Given the description of an element on the screen output the (x, y) to click on. 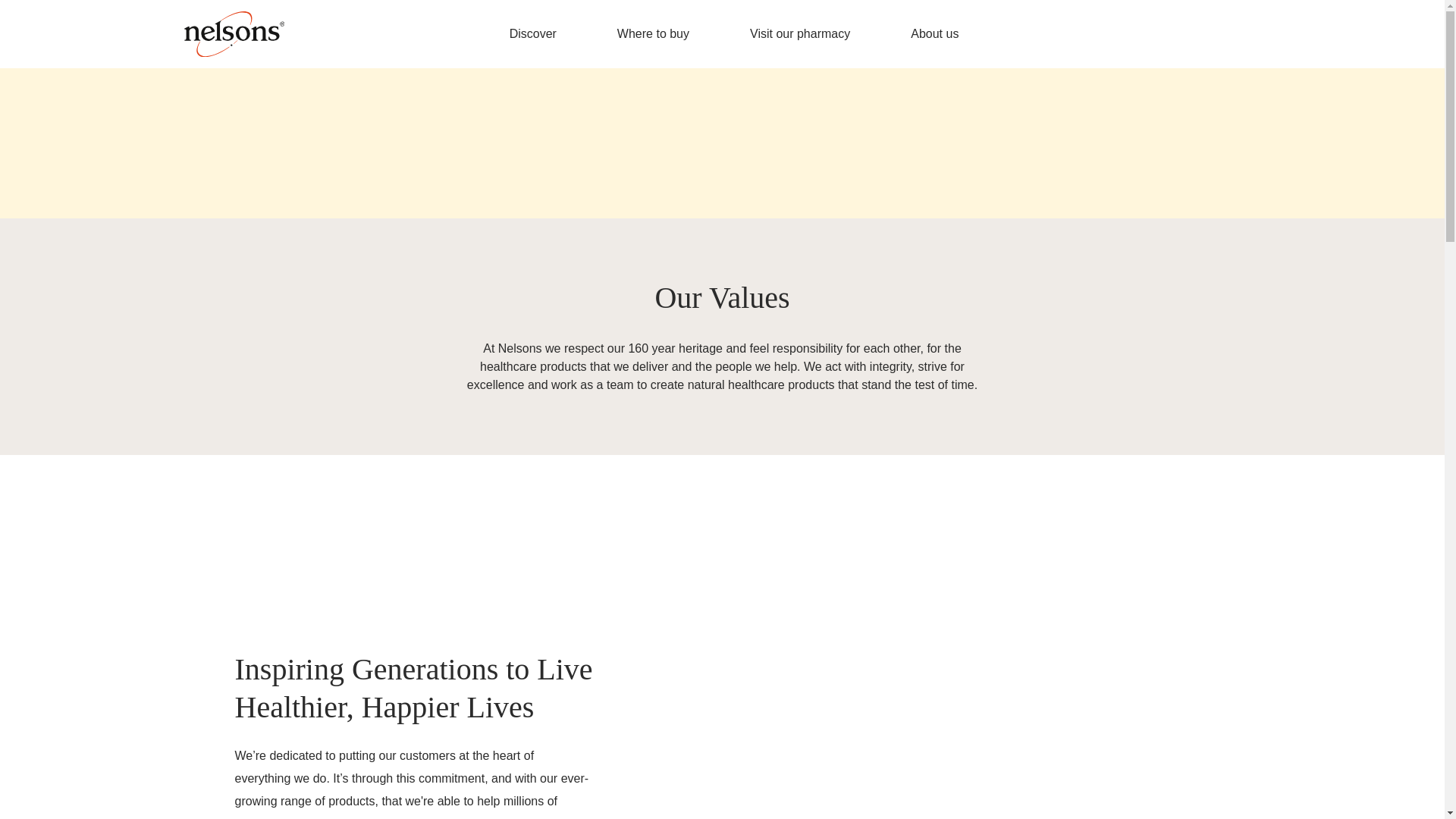
Nelsons (233, 33)
Where to buy (652, 33)
About us (936, 33)
Discover (532, 33)
Region selector (1243, 31)
Visit our pharmacy (799, 33)
